Given the description of an element on the screen output the (x, y) to click on. 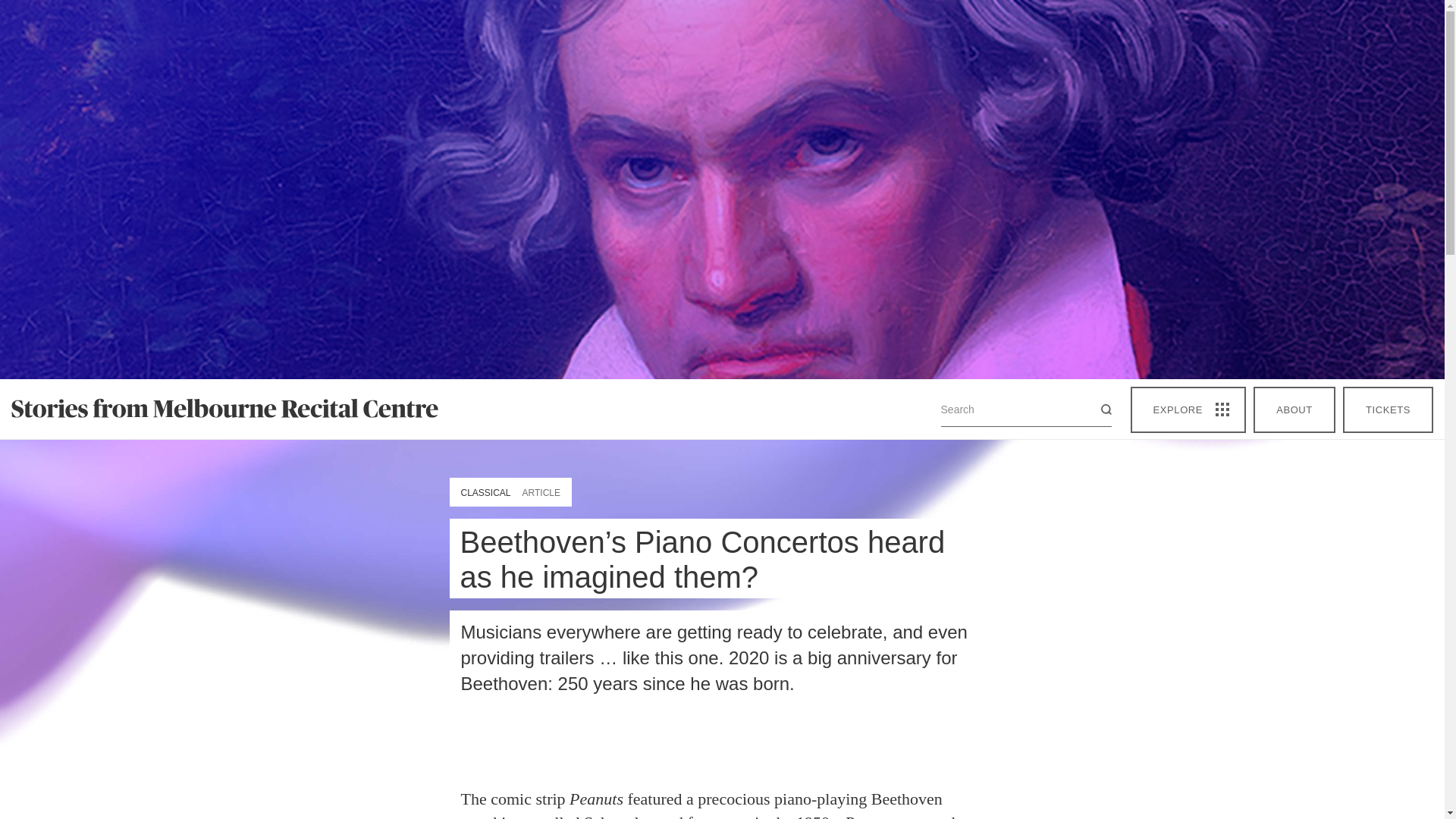
TERMS OF USE (815, 805)
ARTICLE (541, 492)
CONTACT US (591, 805)
CLASSICAL (486, 492)
Search (1095, 409)
ABOUT (1294, 409)
EXPLORE (1188, 409)
ABOUT US (378, 805)
PRIVACY POLICY (1050, 805)
TICKETS (1387, 409)
